Given the description of an element on the screen output the (x, y) to click on. 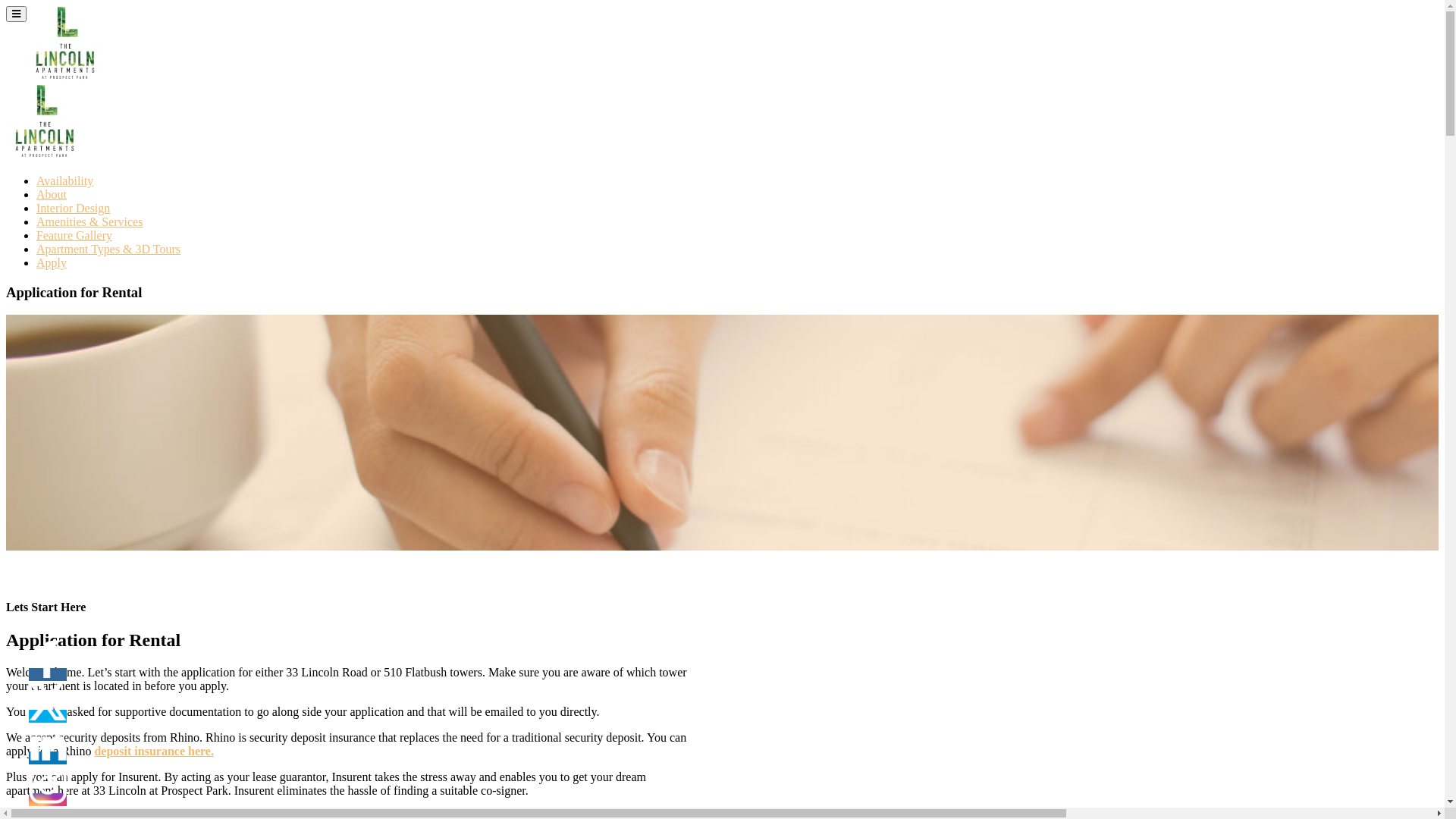
Interior Design Element type: text (72, 207)
deposit insurance here. Element type: text (153, 750)
Apply Element type: text (51, 262)
Amenities & Services Element type: text (89, 221)
Feature Gallery Element type: text (74, 235)
Instagram Element type: hover (47, 784)
Twitter Element type: hover (47, 701)
LinkedIn Element type: hover (47, 743)
Apartment Types & 3D Tours Element type: text (108, 248)
Facebook Element type: hover (47, 659)
Availability Element type: text (64, 180)
About Element type: text (51, 194)
